Given the description of an element on the screen output the (x, y) to click on. 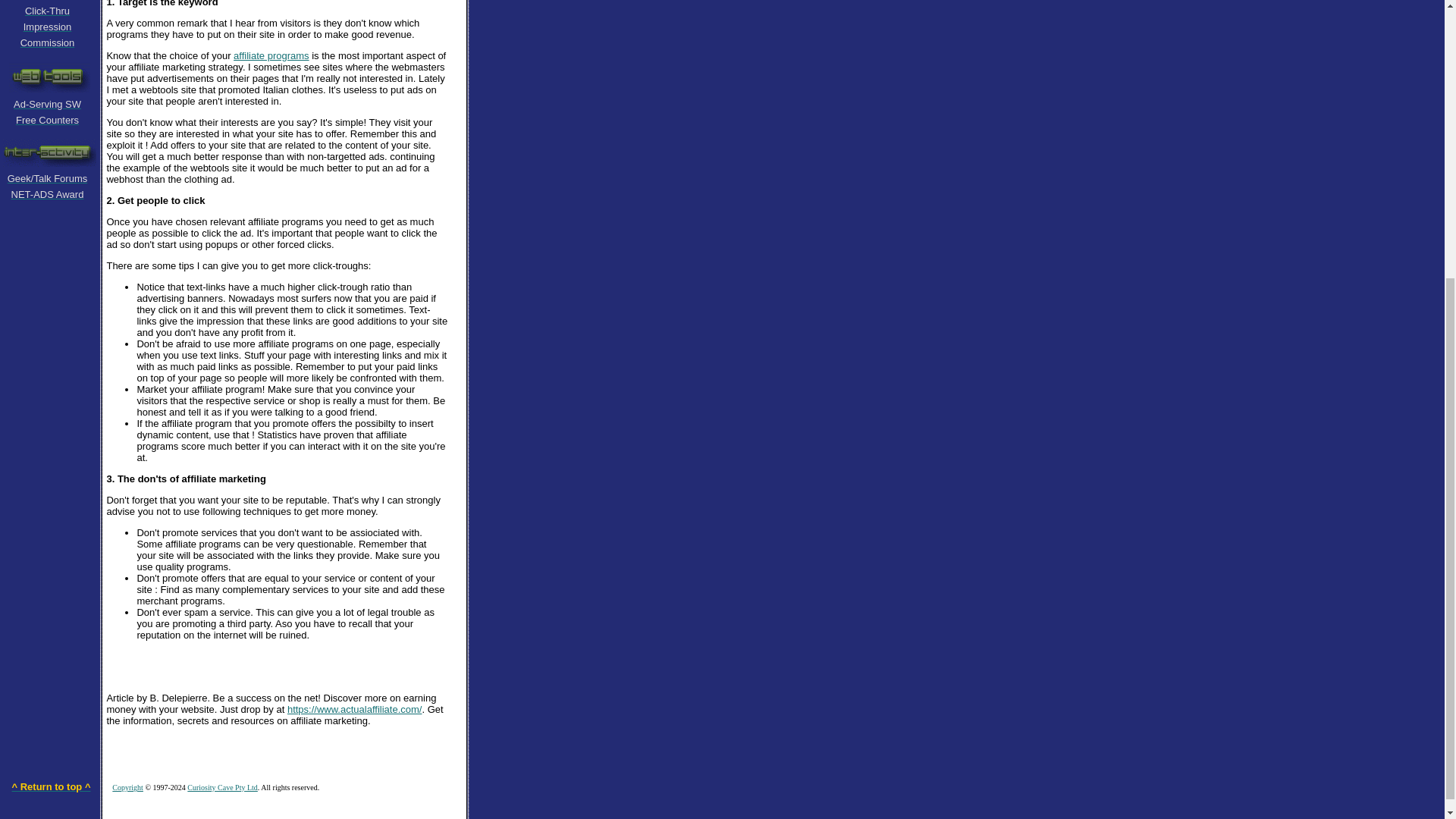
Ad-Serving SW (47, 103)
Click-Thru (46, 10)
Commission (47, 42)
Free Counters (47, 119)
Copyright (127, 786)
Impression (47, 25)
affiliate programs (270, 55)
NET-ADS Award (47, 193)
Curiosity Cave Pty Ltd (222, 786)
